Given the description of an element on the screen output the (x, y) to click on. 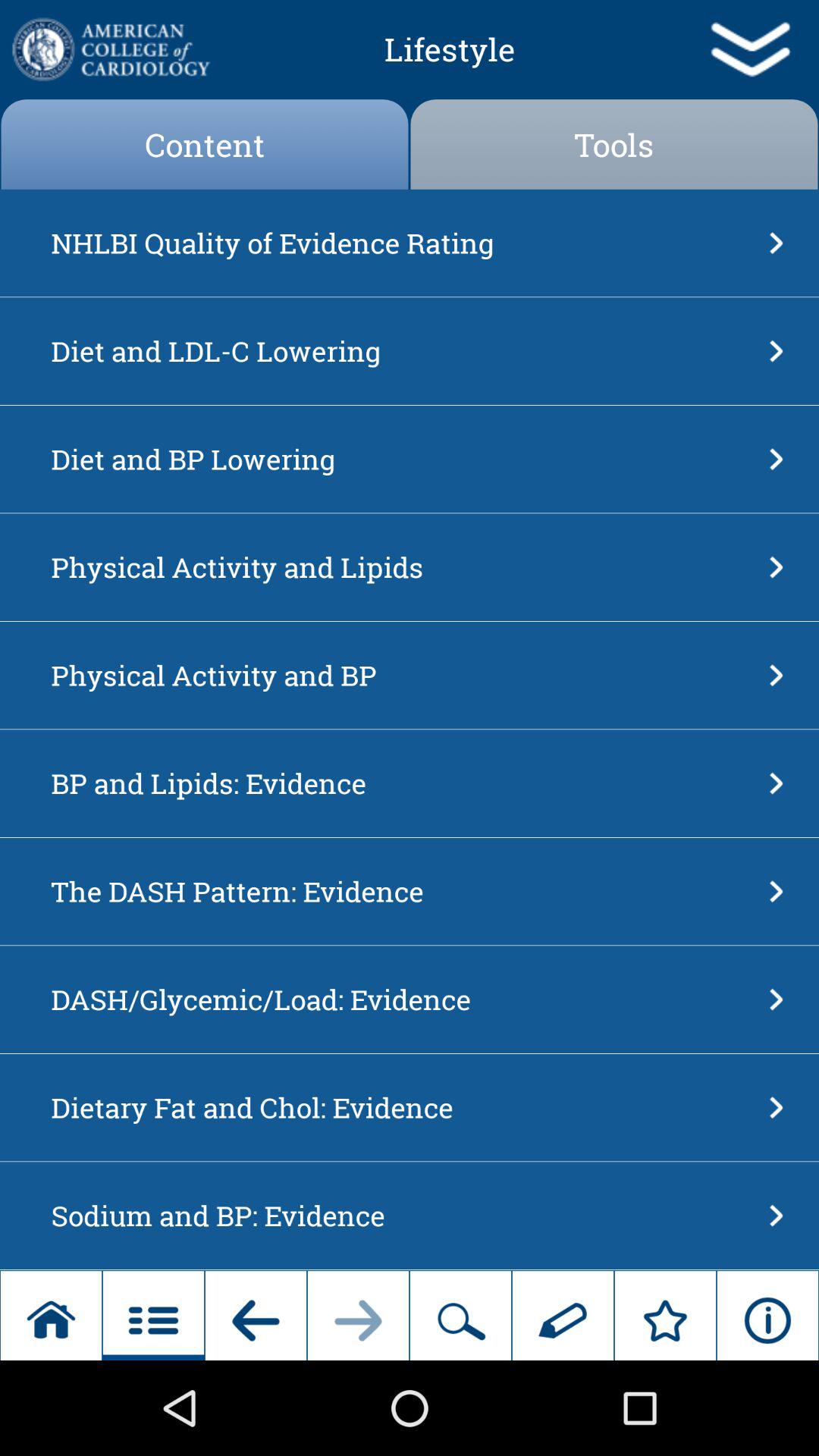
open drop down menu (749, 49)
